Given the description of an element on the screen output the (x, y) to click on. 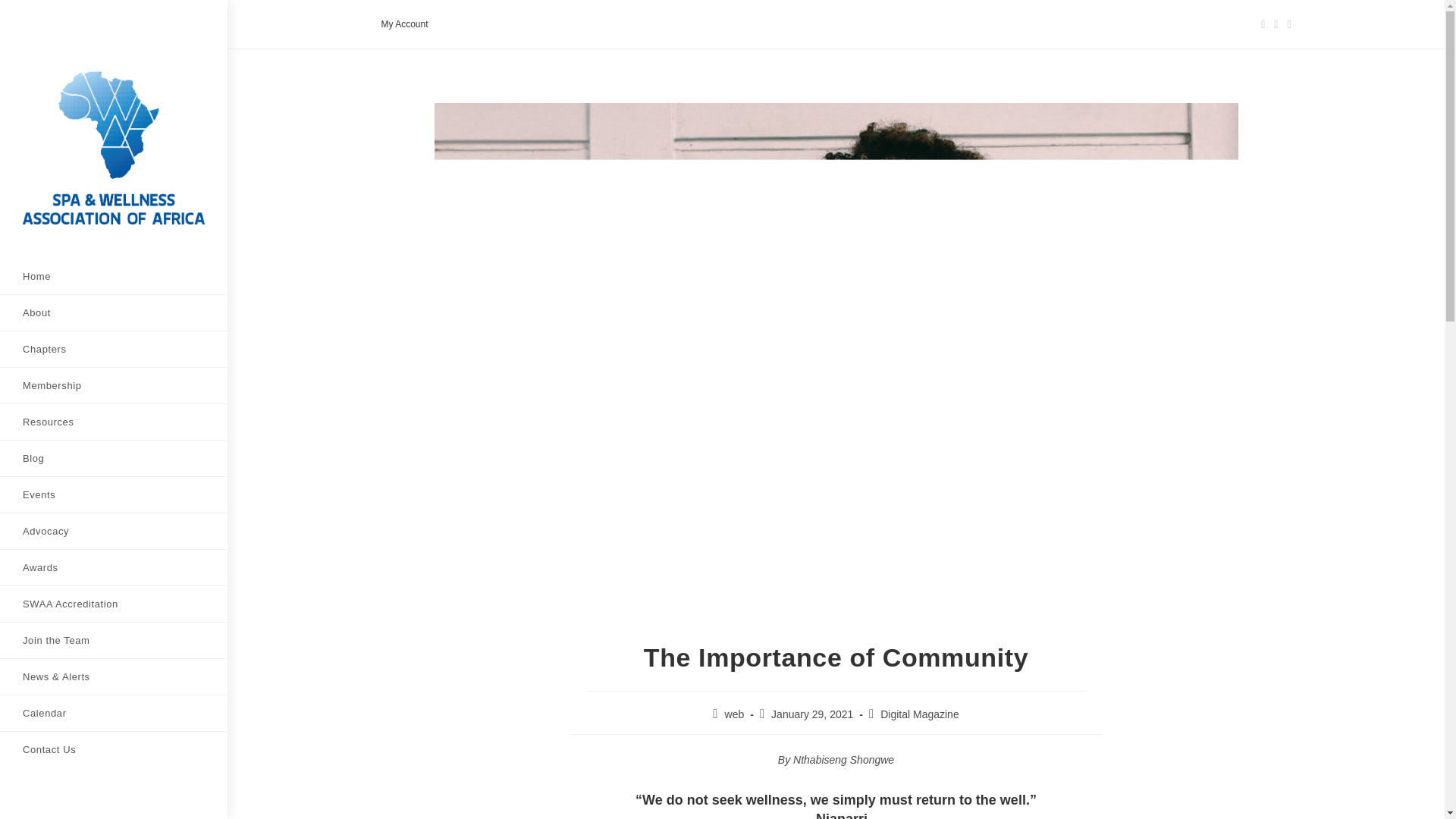
My Account (404, 23)
Chapters (113, 348)
Join the Team (113, 640)
Contact Us (113, 749)
SWAA Accreditation (113, 603)
Awards (113, 567)
Membership (113, 385)
Blog (113, 457)
Events (113, 494)
Home (113, 276)
Resources (113, 421)
Posts by web (734, 714)
Calendar (113, 713)
About (113, 312)
Advocacy (113, 530)
